Given the description of an element on the screen output the (x, y) to click on. 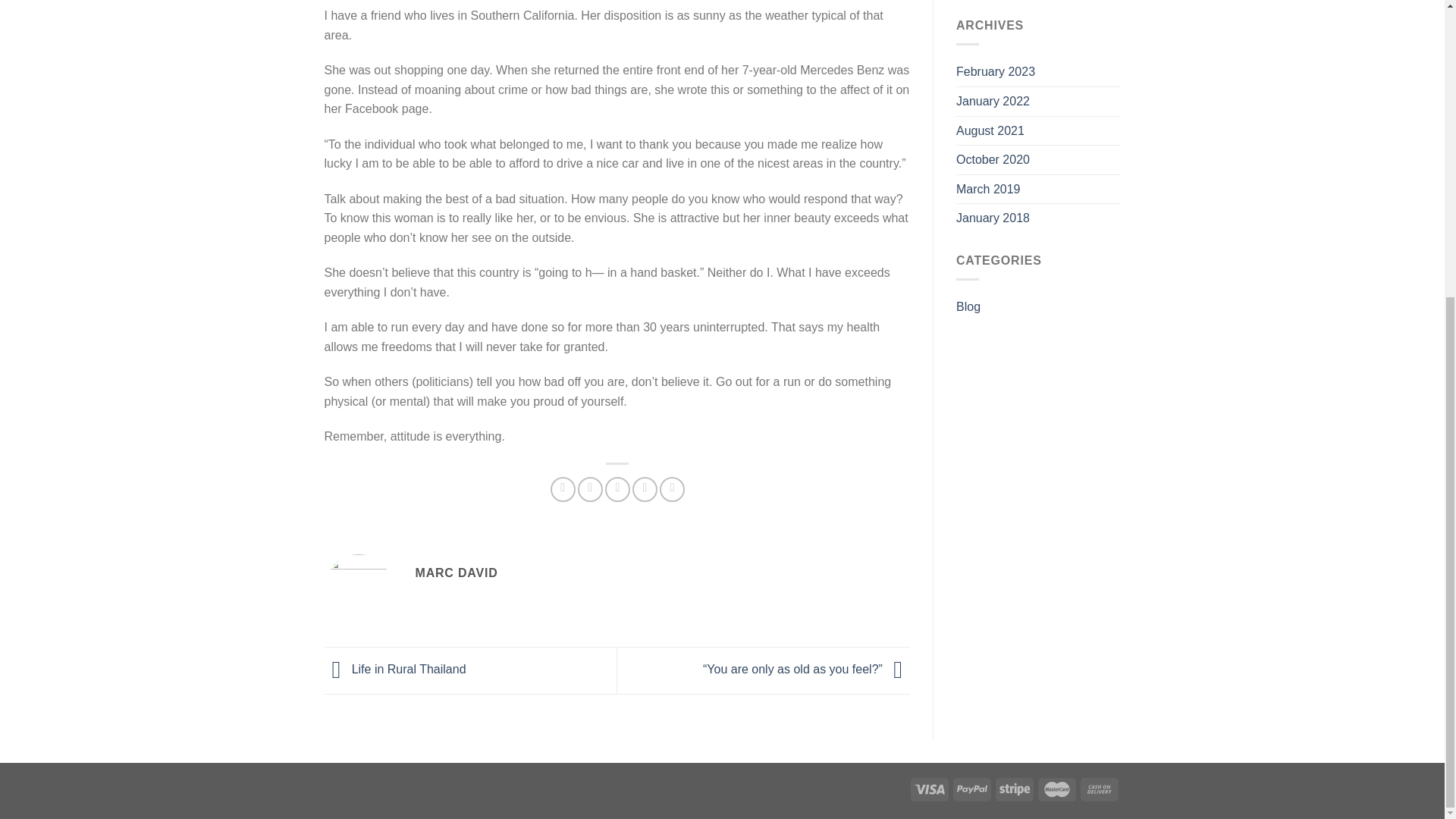
Pin on Pinterest (644, 489)
October 2020 (992, 159)
March 2019 (988, 189)
Share on LinkedIn (671, 489)
August 2021 (990, 131)
Share on Twitter (590, 489)
Life in Rural Thailand (394, 668)
Share on Facebook (562, 489)
January 2018 (992, 217)
February 2023 (995, 71)
Email to a Friend (617, 489)
January 2022 (992, 101)
